Given the description of an element on the screen output the (x, y) to click on. 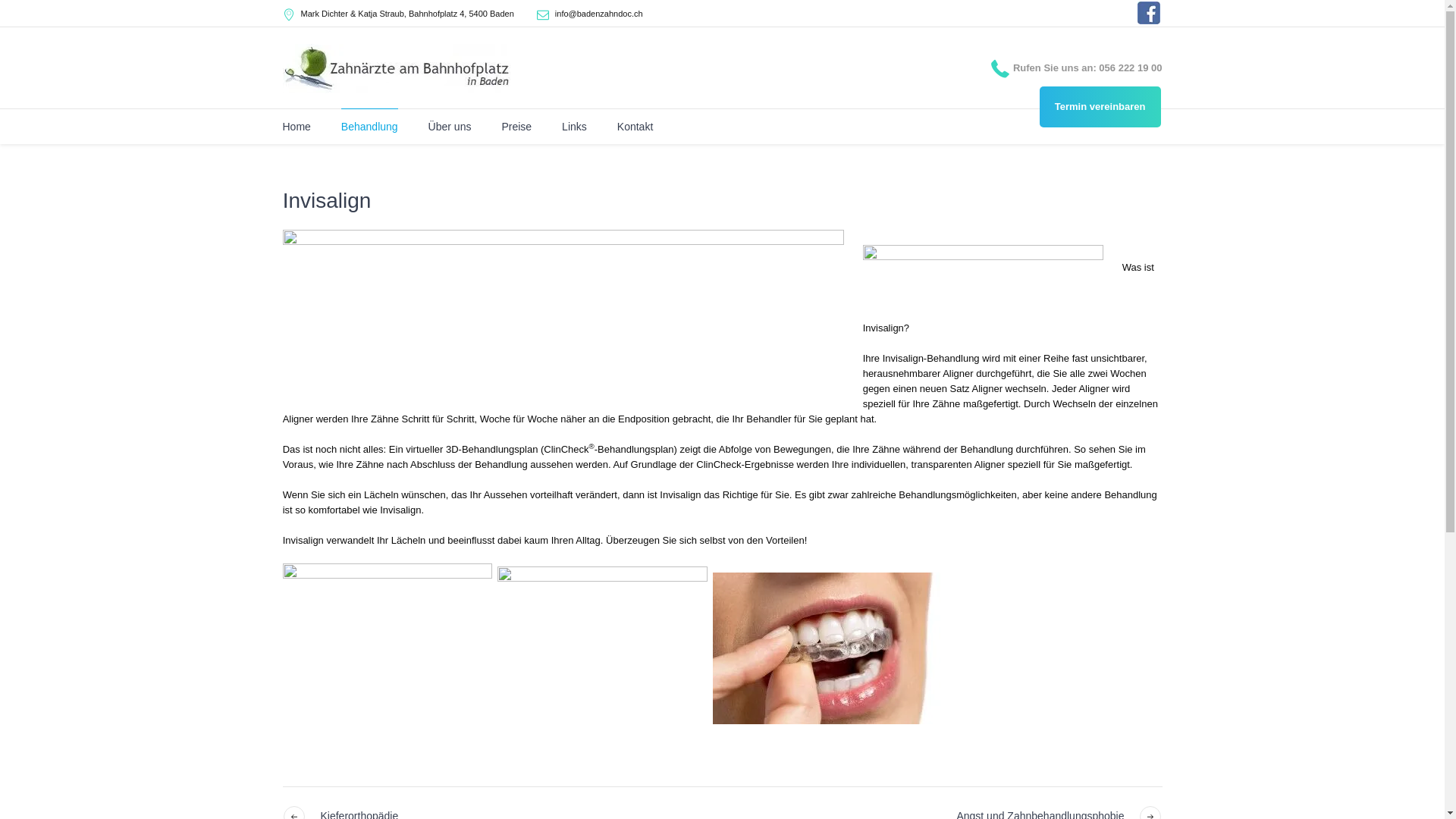
Home Element type: text (296, 126)
Termin vereinbaren Element type: text (1100, 106)
Mark Dichter & Katja Straub, Bahnhofplatz 4, 5400 Baden Element type: text (406, 13)
Links Element type: text (573, 126)
Kontakt Element type: text (634, 126)
info@badenzahndoc.ch Element type: text (599, 13)
Behandlung Element type: text (369, 126)
Facebook Element type: hover (1148, 12)
Preise Element type: text (516, 126)
